Given the description of an element on the screen output the (x, y) to click on. 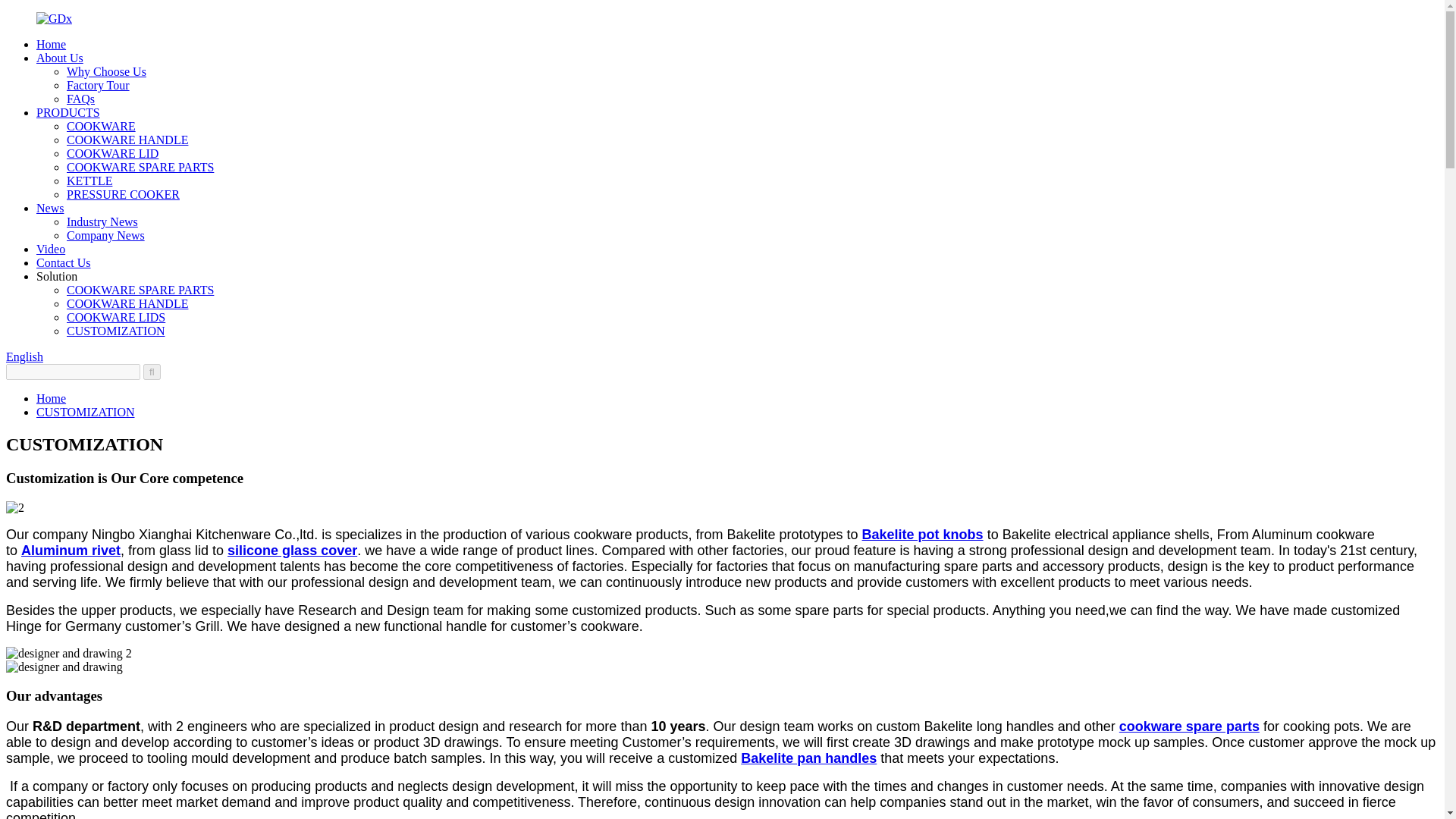
COOKWARE LID (112, 153)
Company News (105, 235)
CUSTOMIZATION (84, 411)
COOKWARE LIDS (115, 317)
Industry News (102, 221)
cookware spare parts (1189, 726)
PRESSURE COOKER (122, 194)
Home (50, 398)
CUSTOMIZATION (115, 330)
silicone glass cover (291, 549)
